Given the description of an element on the screen output the (x, y) to click on. 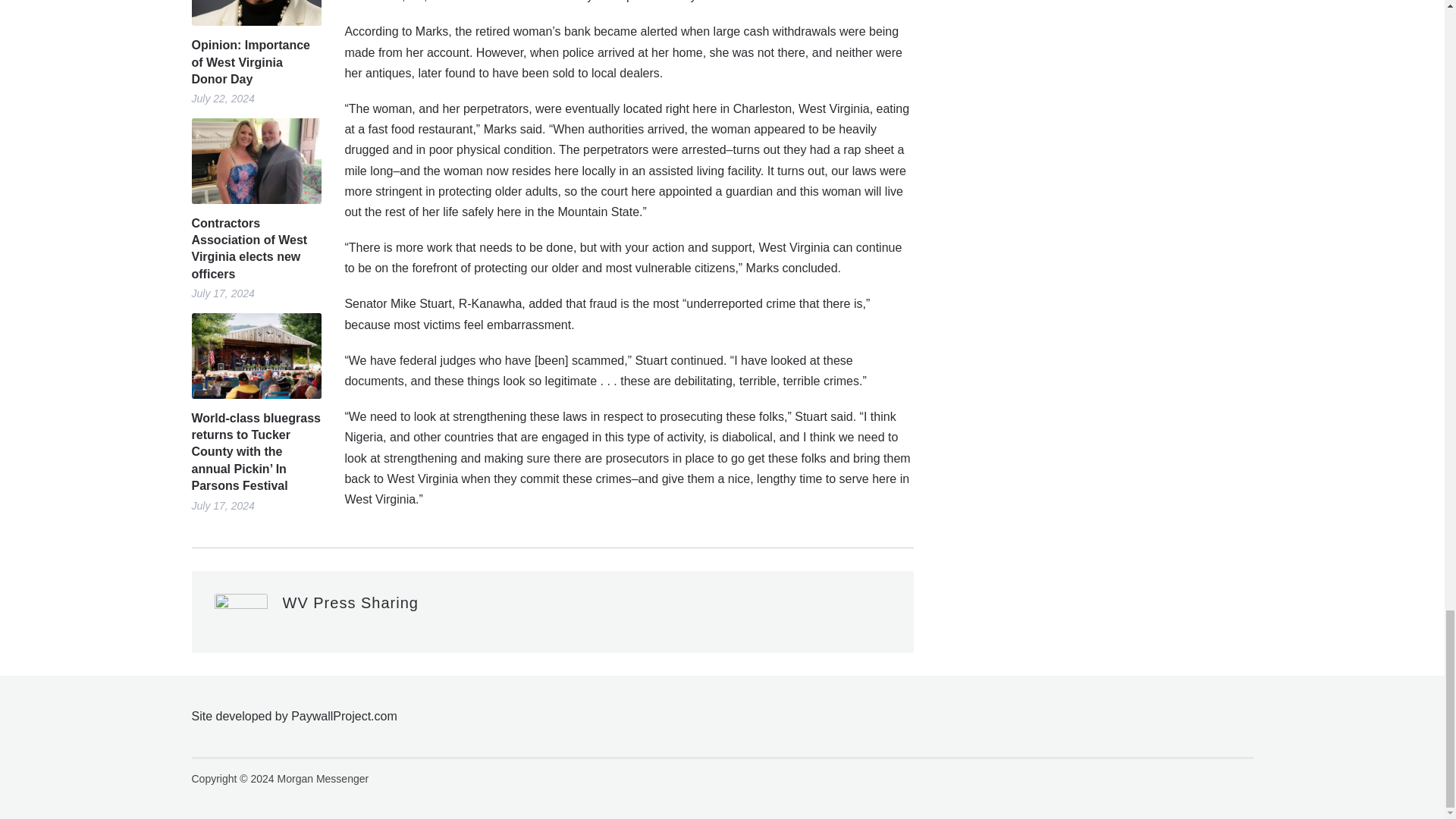
Permalink to Opinion: Importance of West Virginia Donor Day (255, 13)
Posts by WV Press Sharing (349, 602)
Permalink to Opinion: Importance of West Virginia Donor Day (255, 61)
